Given the description of an element on the screen output the (x, y) to click on. 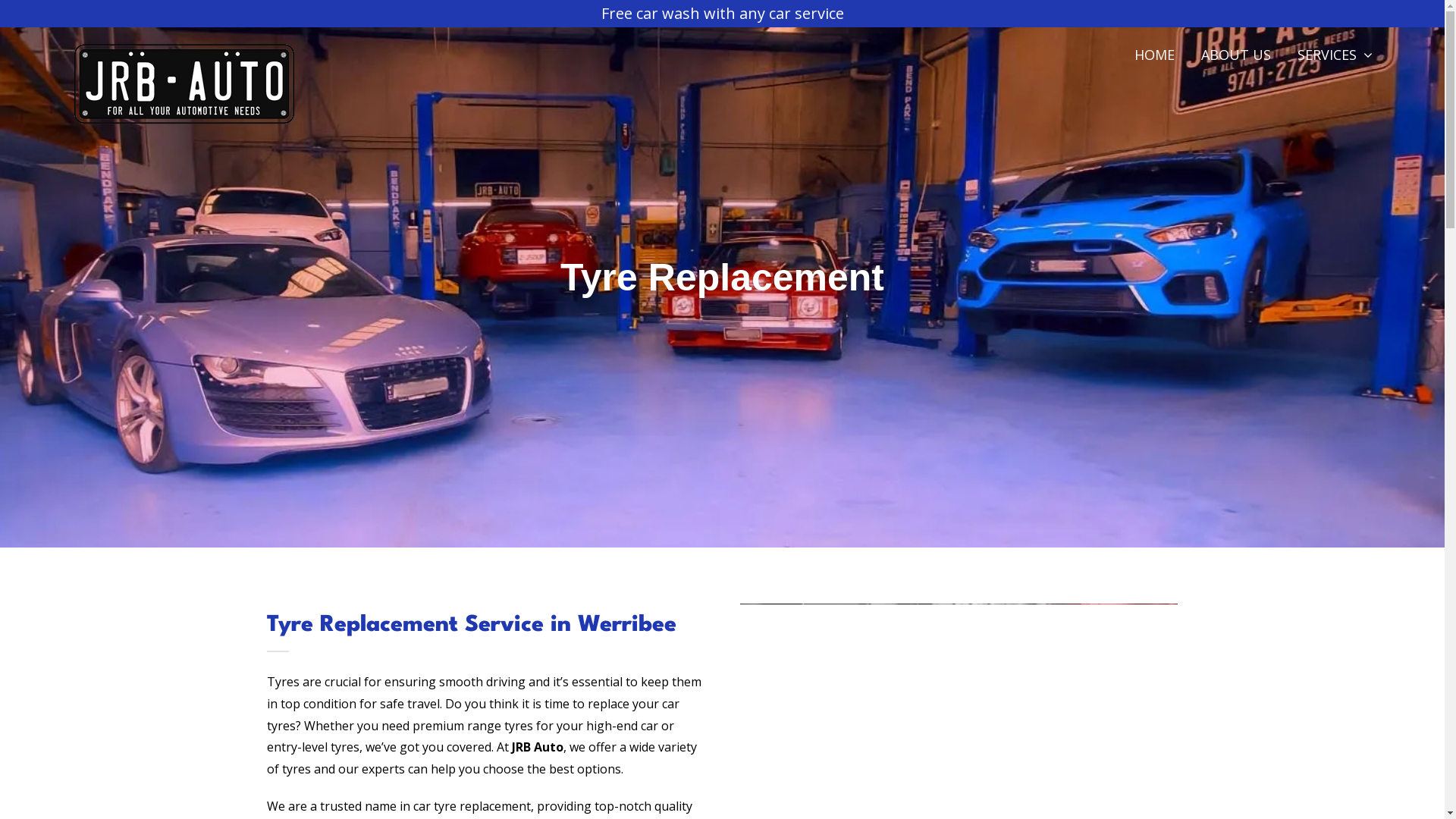
HOME Element type: text (1154, 54)
ABOUT US Element type: text (1235, 54)
SERVICES Element type: text (1334, 54)
